Given the description of an element on the screen output the (x, y) to click on. 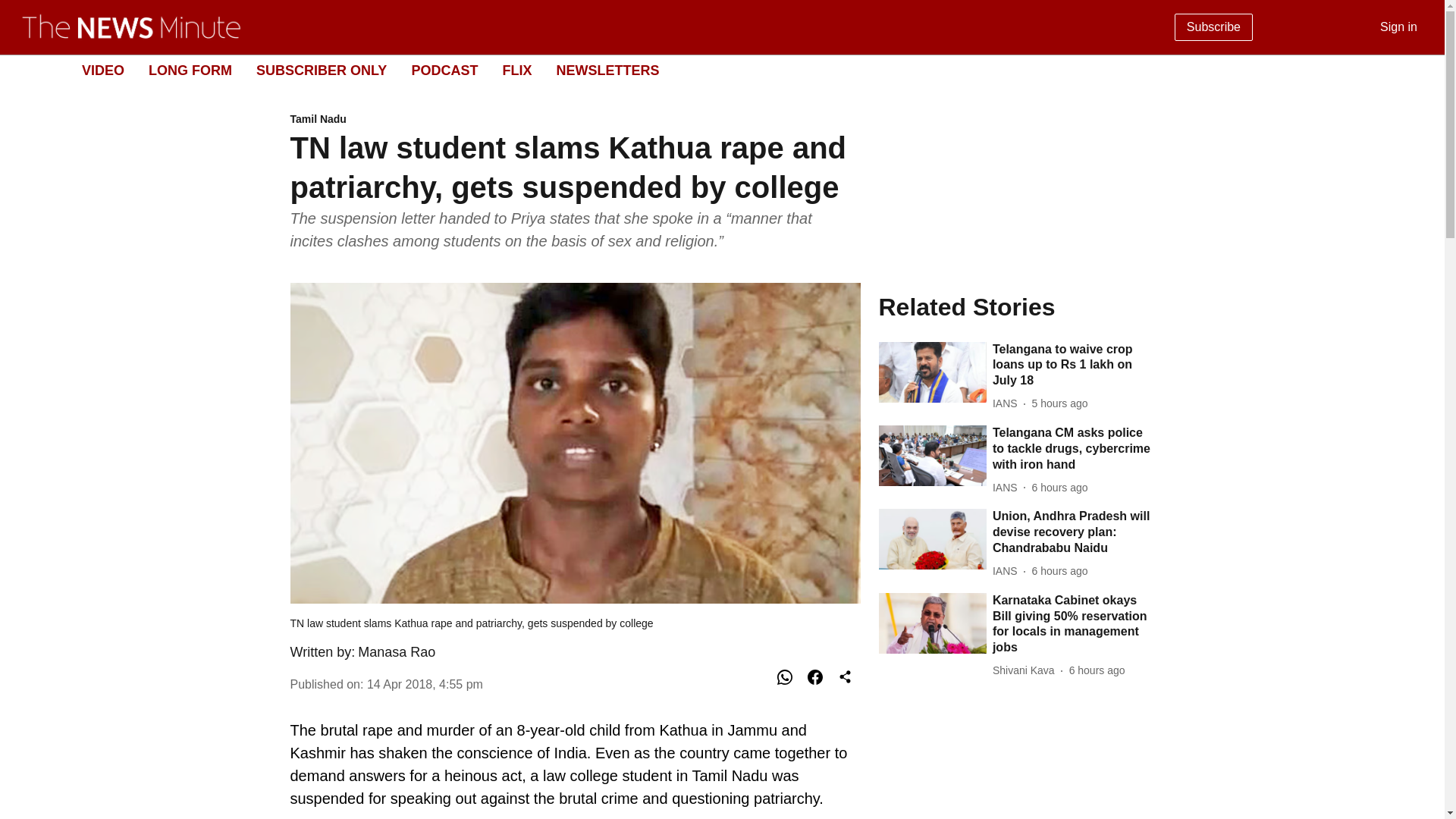
NEWSLETTERS (709, 70)
LONG FORM (607, 70)
Manasa Rao (189, 70)
FLIX (396, 652)
Related Stories (516, 70)
PODCAST (1015, 306)
Dark Mode (443, 70)
IANS (1415, 70)
Tamil Nadu (1007, 403)
2024-07-17 03:46 (574, 119)
VIDEO (1059, 487)
Telangana to waive crop loans up to Rs 1 lakh on July 18 (102, 70)
2024-07-17 03:35 (1073, 365)
